Given the description of an element on the screen output the (x, y) to click on. 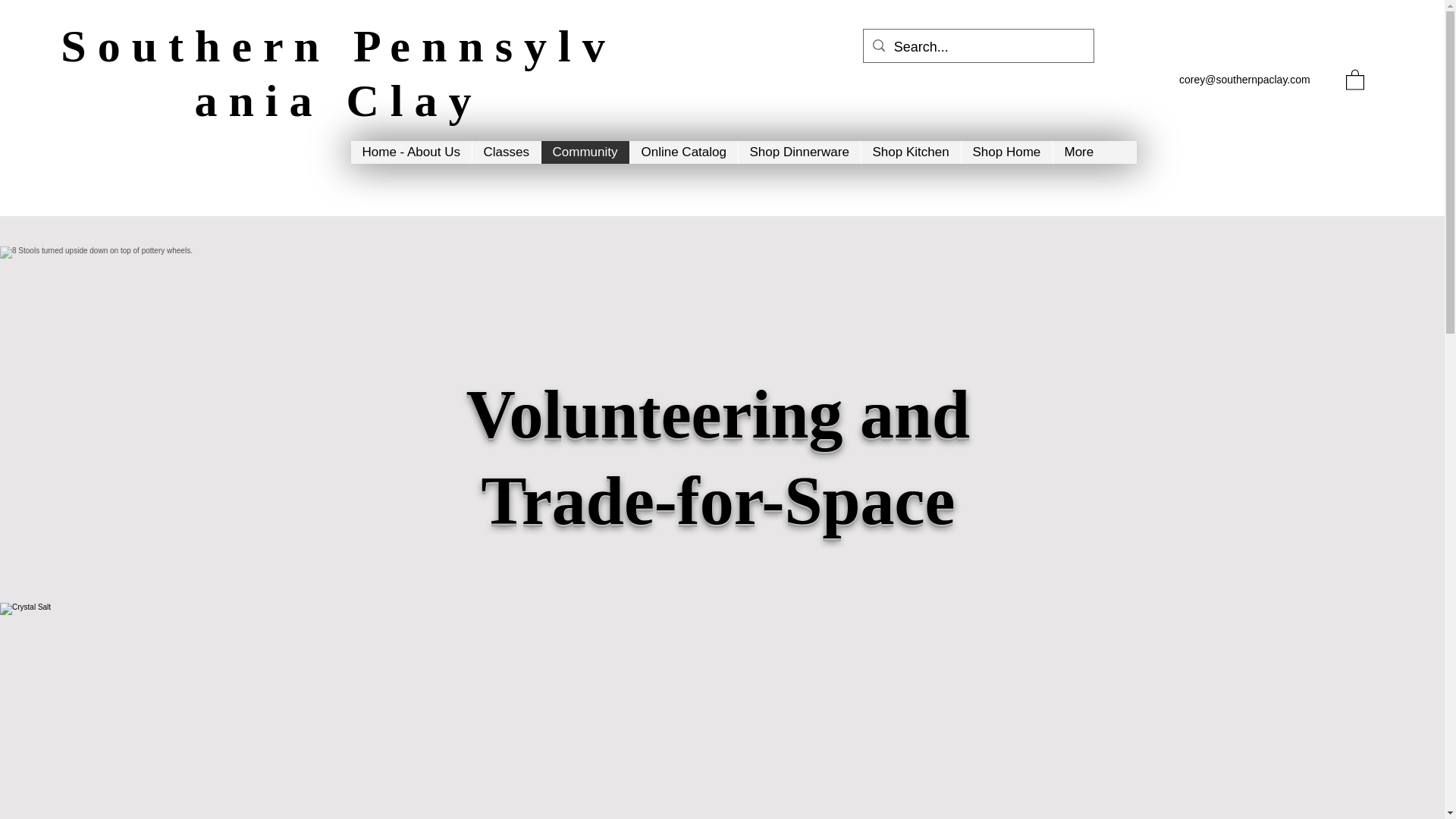
Classes (505, 151)
Home - About Us (410, 151)
Online Catalog (683, 151)
Shop Dinnerware (798, 151)
Shop Home (1005, 151)
Shop Kitchen (909, 151)
S o u t h e r n   P e n n s y l v a n i a   C l a y (332, 73)
Community (584, 151)
